Given the description of an element on the screen output the (x, y) to click on. 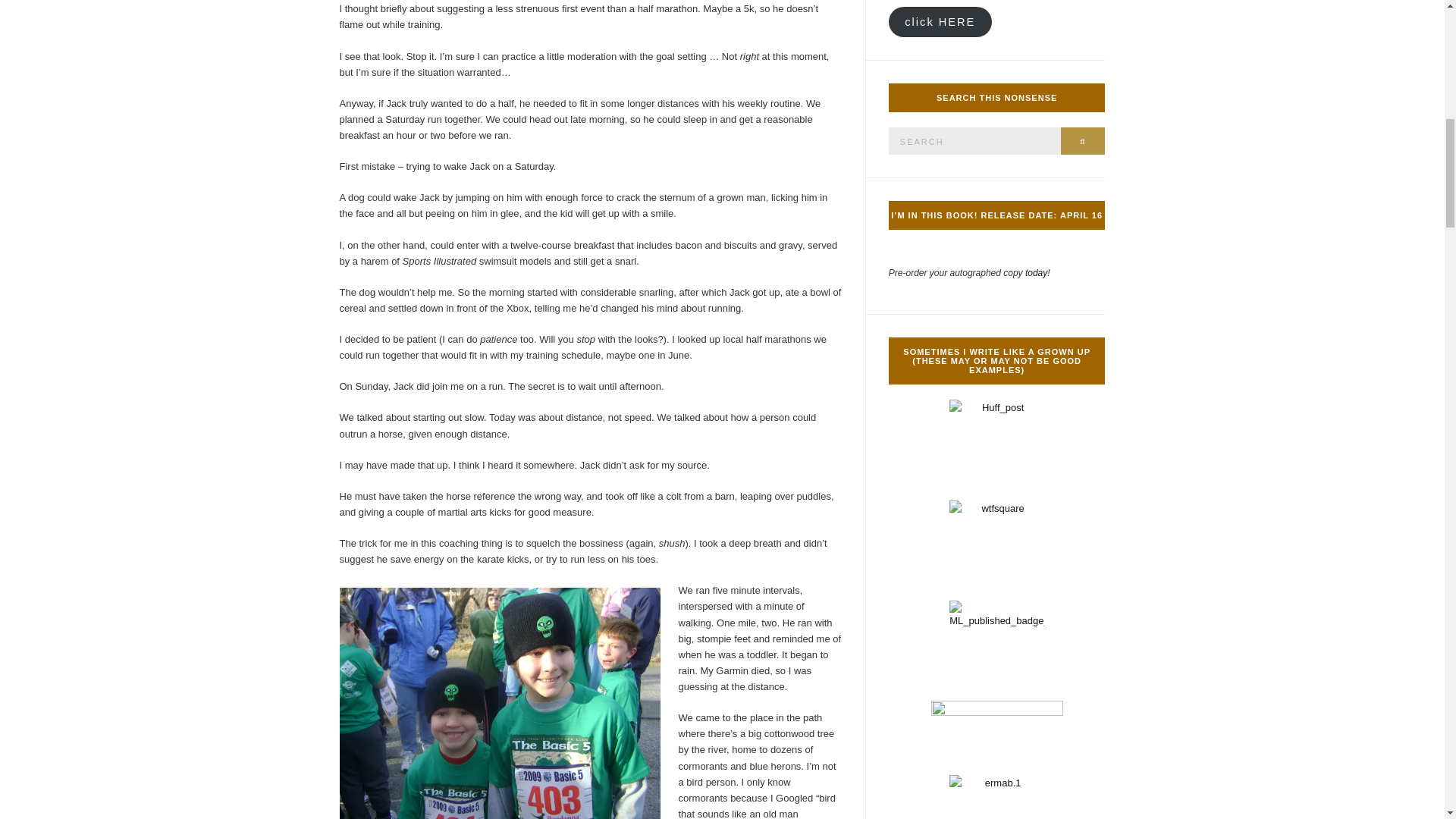
Scary Mommy (996, 547)
